Given the description of an element on the screen output the (x, y) to click on. 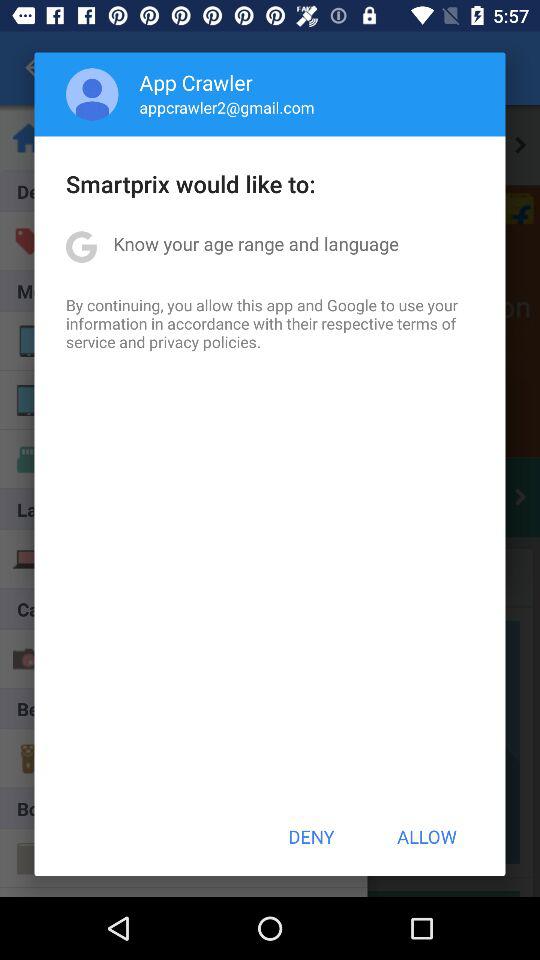
click the app crawler app (195, 82)
